Given the description of an element on the screen output the (x, y) to click on. 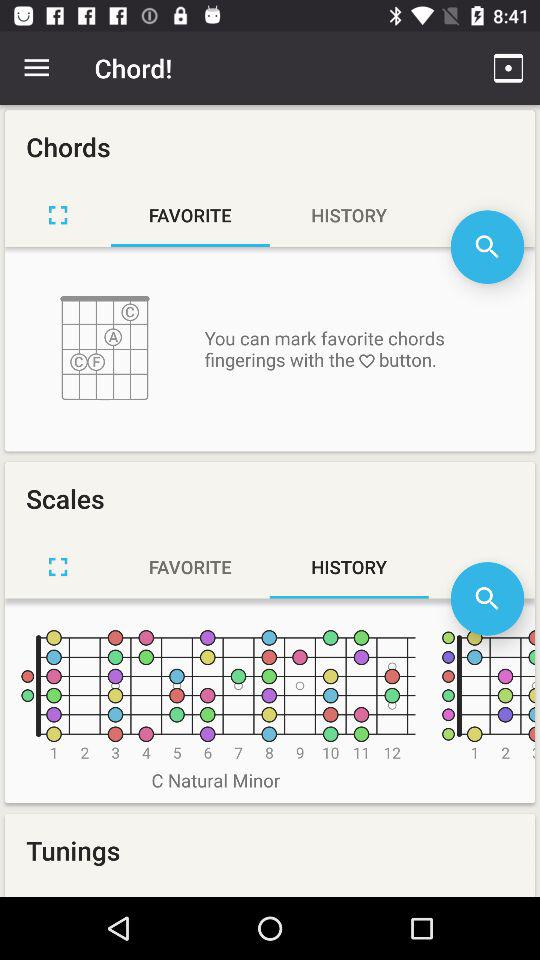
scales (58, 566)
